Given the description of an element on the screen output the (x, y) to click on. 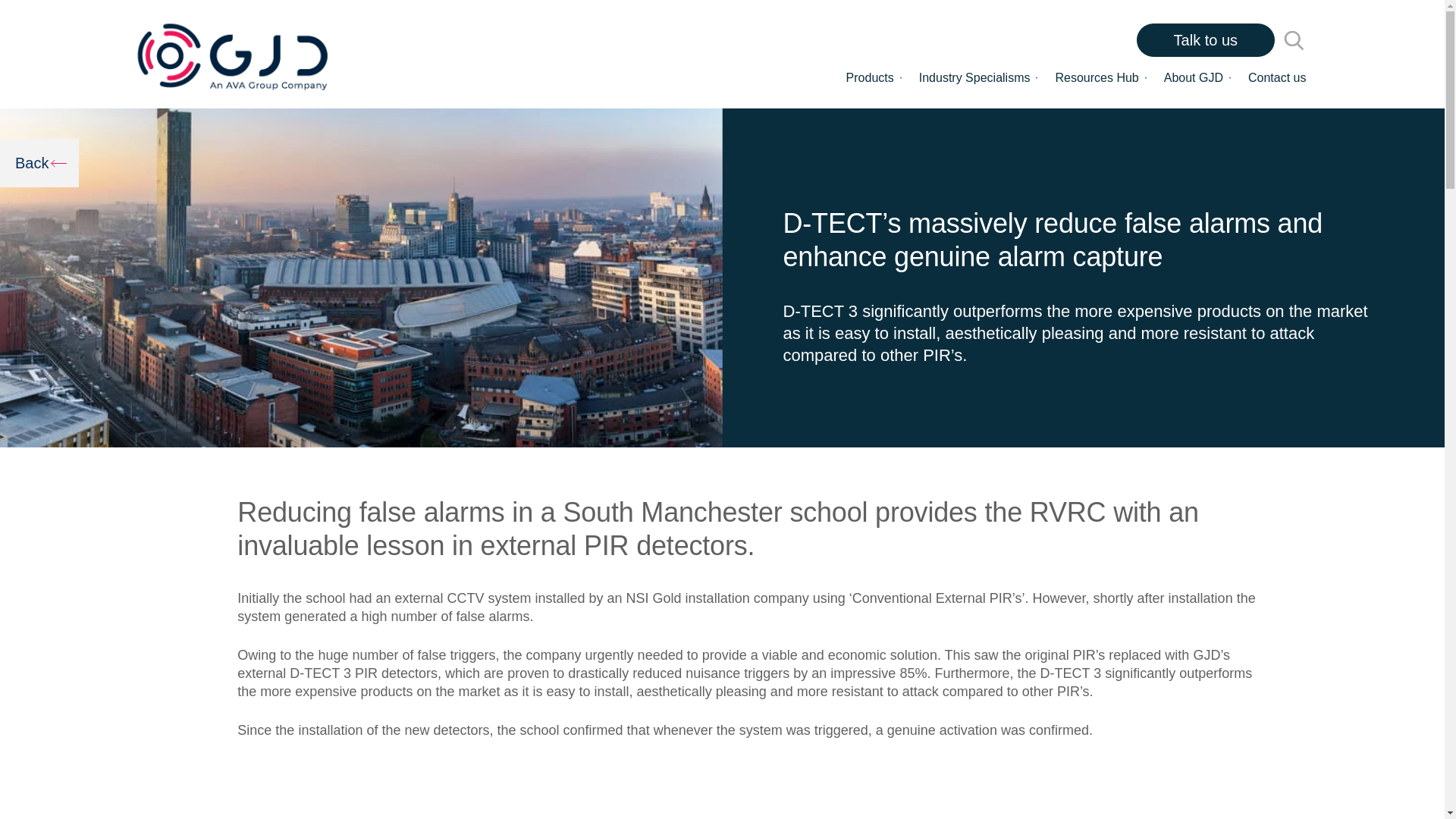
Back (39, 162)
Home (232, 54)
About GJD (1193, 77)
Contact us (1276, 77)
Products (869, 77)
Resources Hub (1096, 77)
Talk to us (1205, 39)
Industry Specialisms (974, 77)
